Given the description of an element on the screen output the (x, y) to click on. 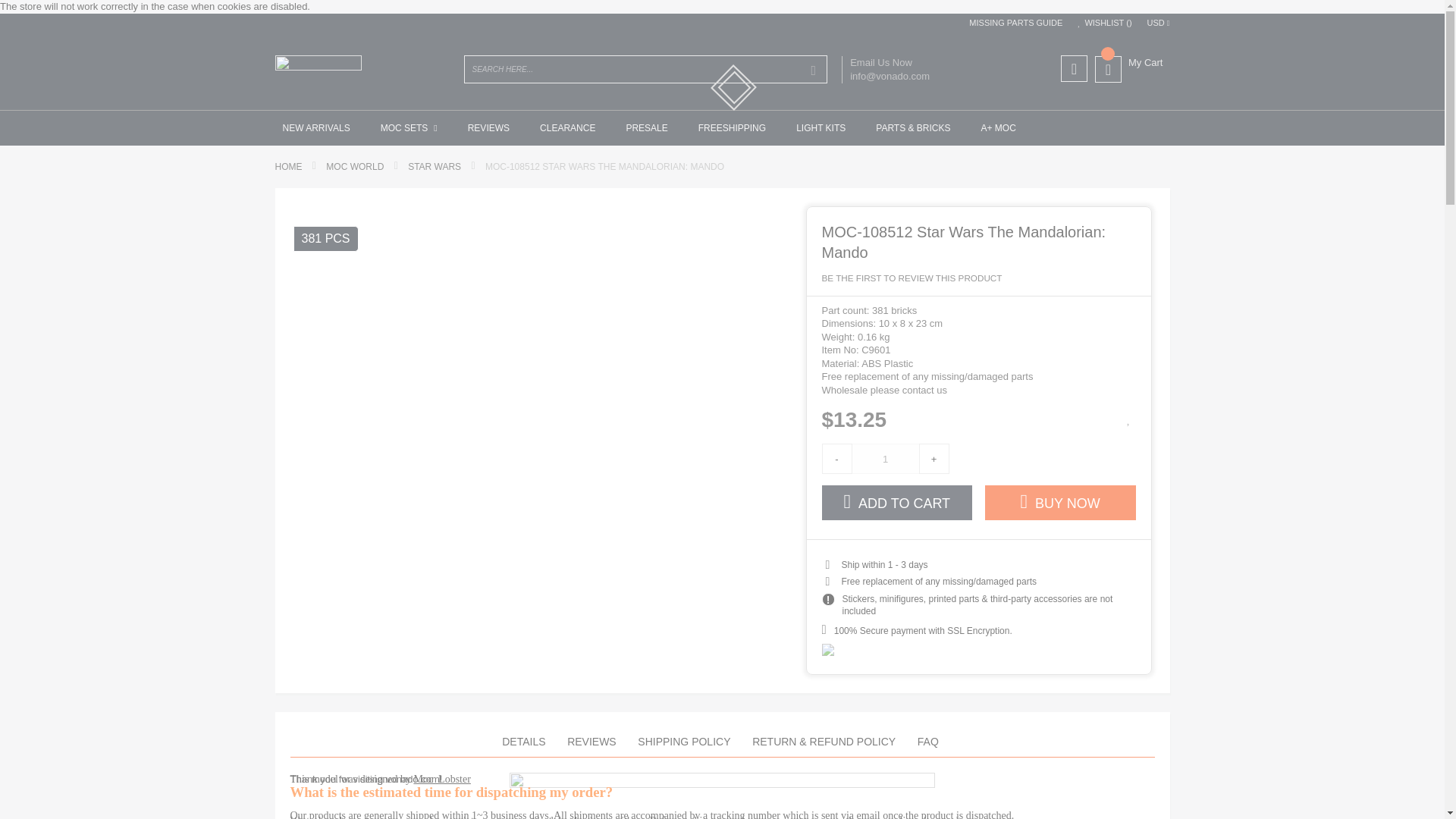
Star Wars (434, 166)
NEW ARRIVALS (315, 127)
Go to Home Page (288, 166)
MOC World (355, 166)
My Cart (1127, 62)
MOC SETS (408, 127)
1 (884, 458)
WISHLIST (1104, 22)
Qty (884, 458)
Search (813, 69)
Add to Cart (897, 502)
MISSING PARTS GUIDE (1013, 22)
Buy Now (1060, 502)
SEARCH (813, 69)
